Given the description of an element on the screen output the (x, y) to click on. 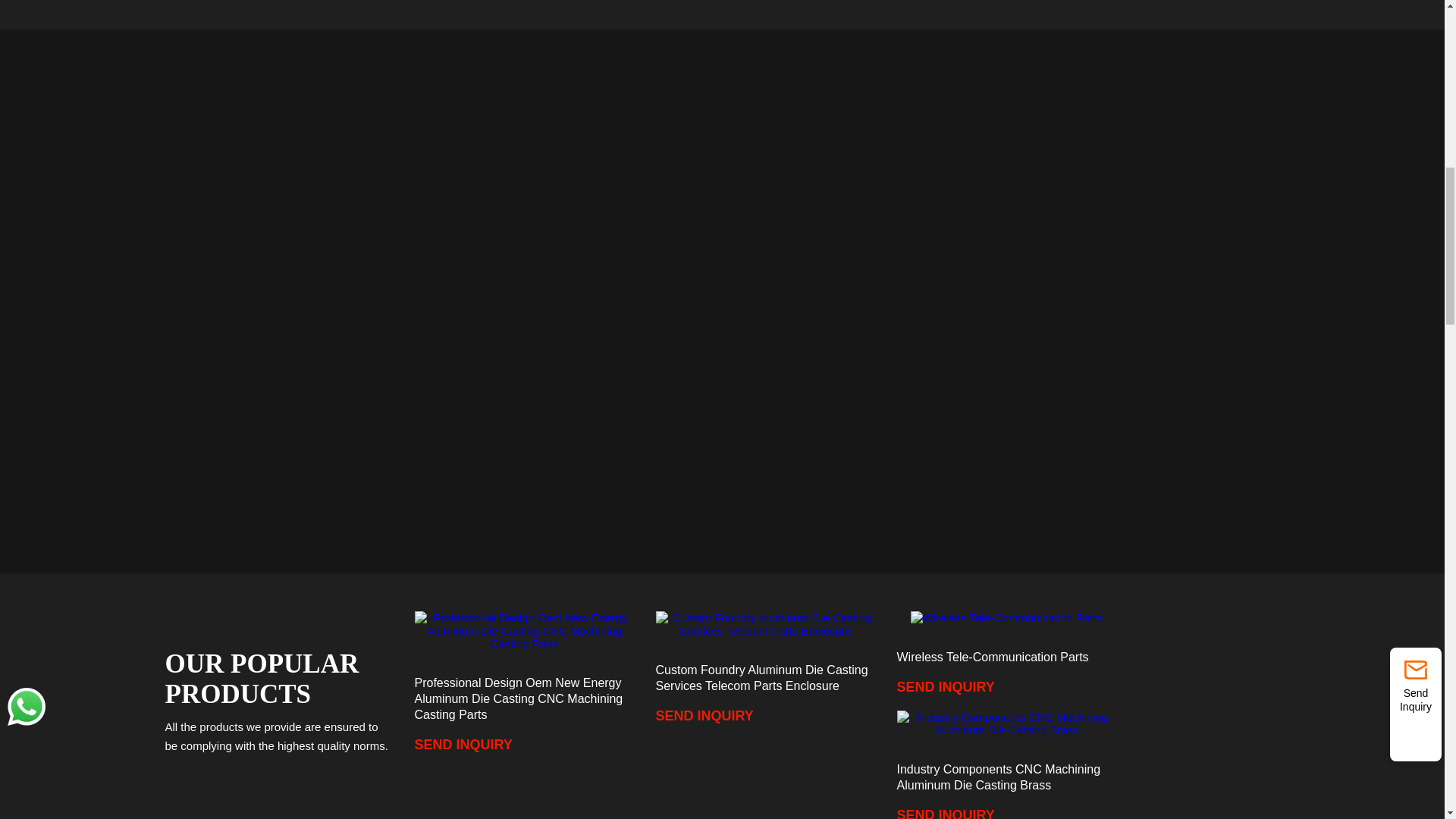
Industry Components CNC Machining Aluminum Die Casting Brass (1006, 723)
Wireless Tele-Communication Parts (1006, 617)
